Given the description of an element on the screen output the (x, y) to click on. 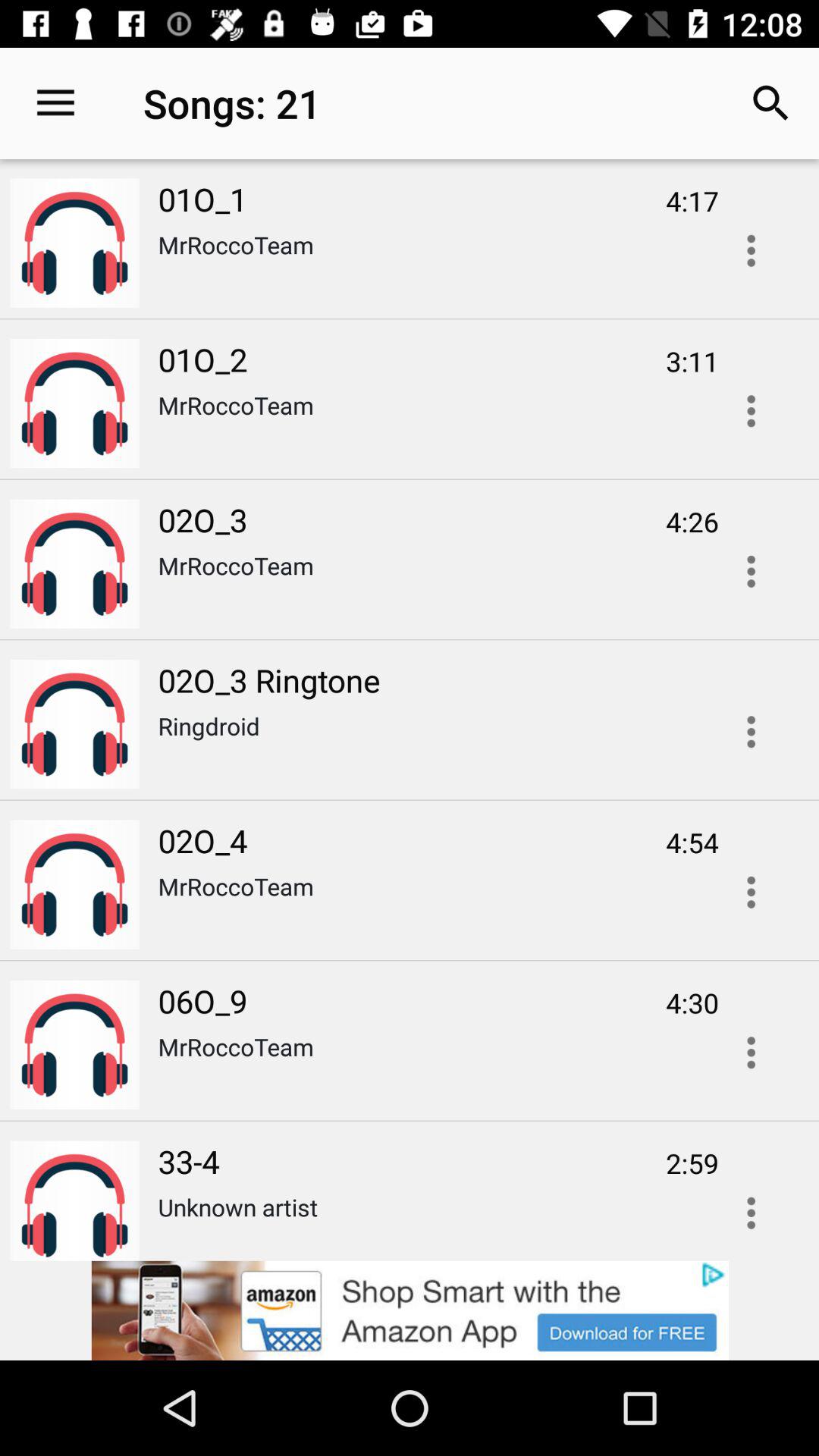
menu button (750, 1207)
